Given the description of an element on the screen output the (x, y) to click on. 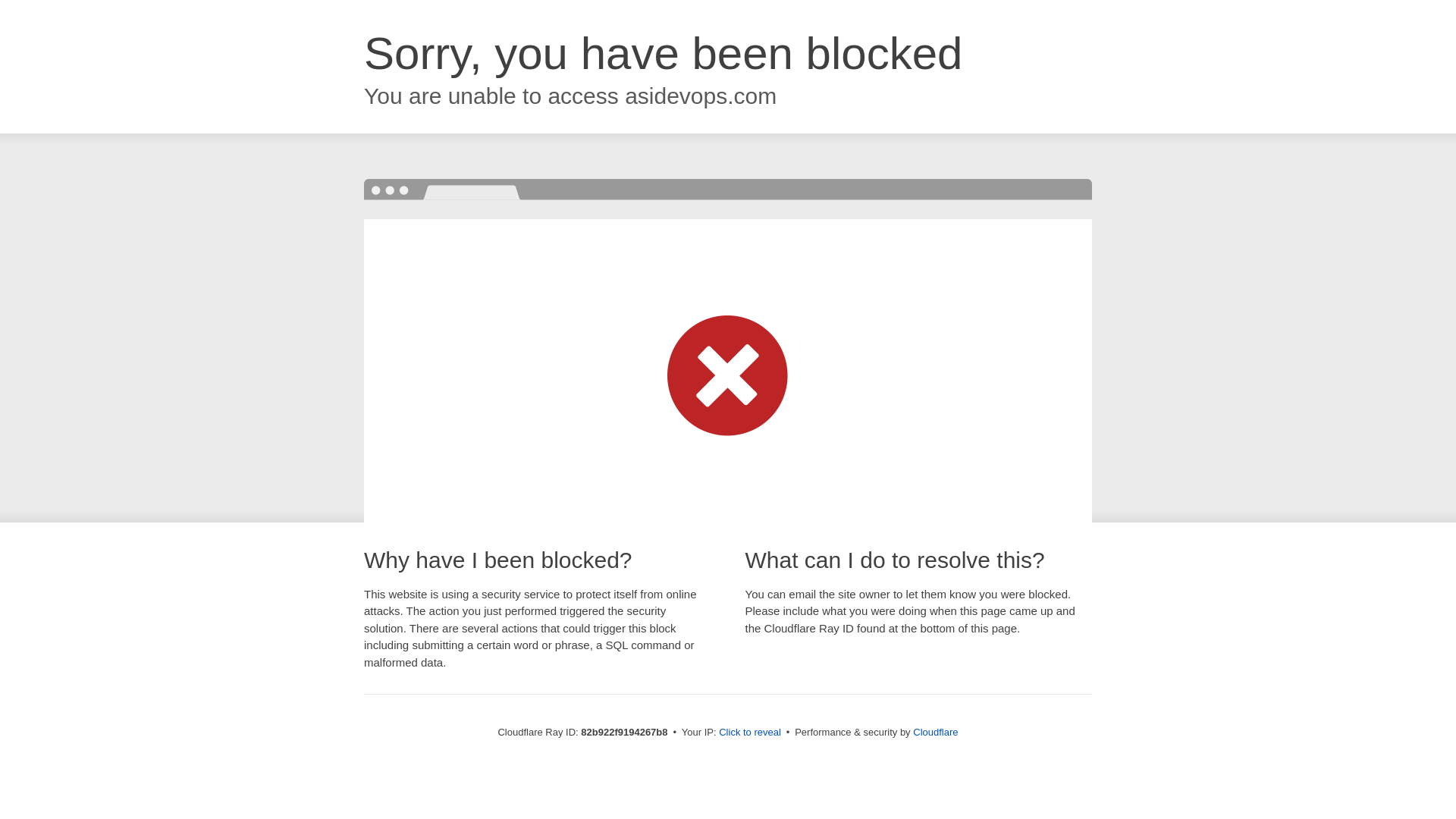
Cloudflare Element type: text (935, 731)
Click to reveal Element type: text (749, 732)
